Given the description of an element on the screen output the (x, y) to click on. 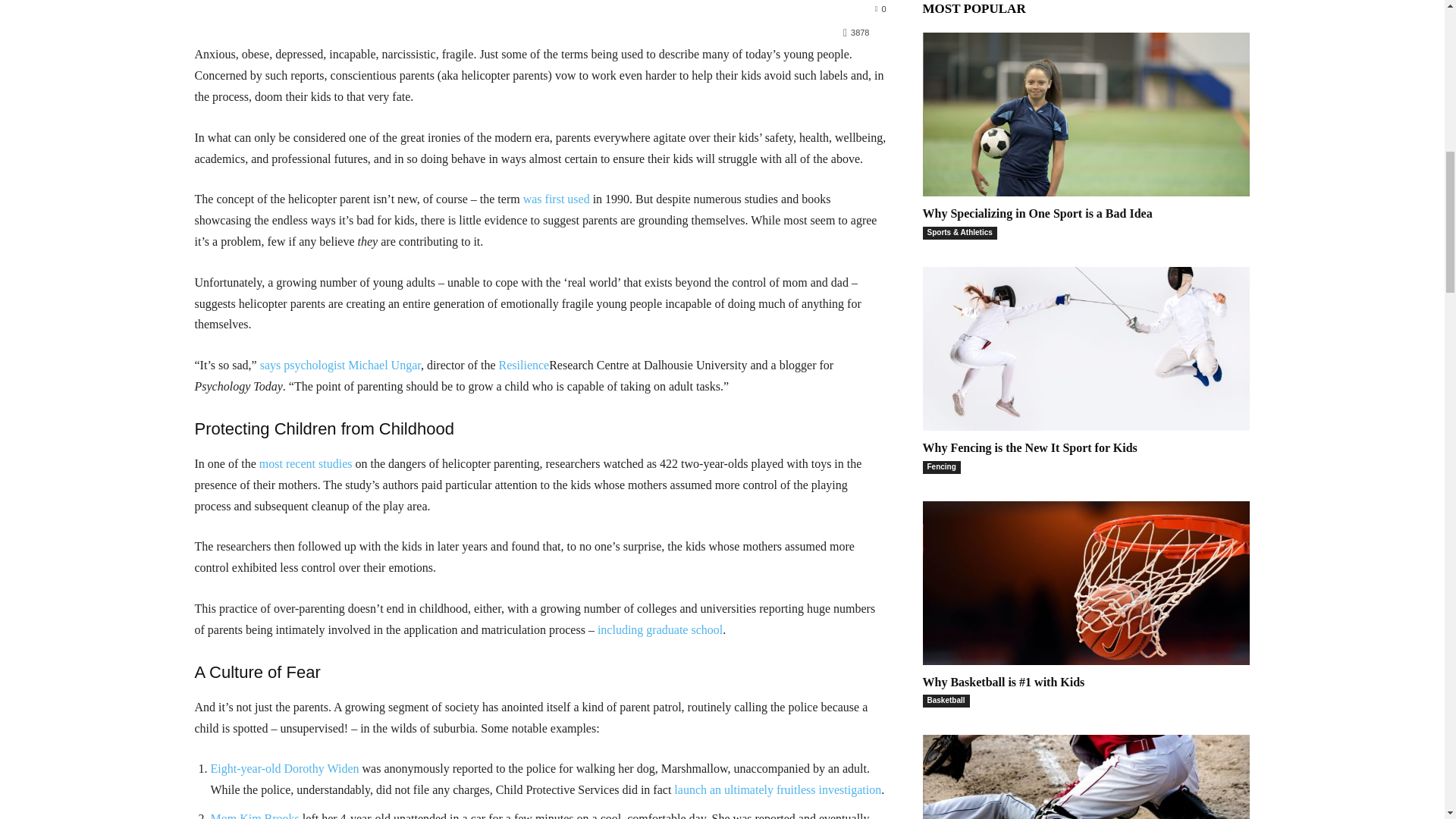
Resilience (524, 364)
including graduate school (659, 629)
most recent studies (305, 463)
0 (880, 8)
says psychologist Michael Ungar (340, 364)
Psychology Today looks at Resilience (524, 364)
was first used (555, 198)
